Given the description of an element on the screen output the (x, y) to click on. 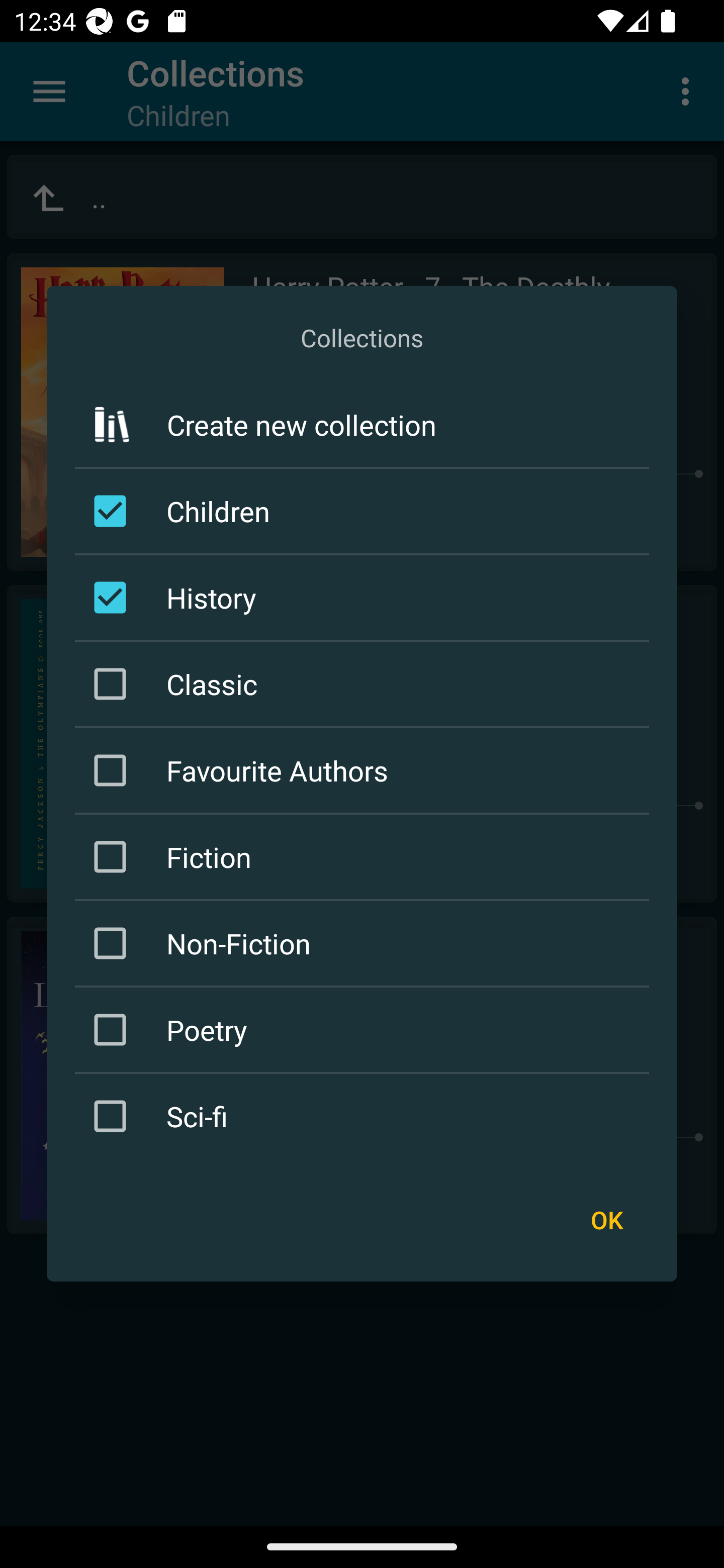
Create new collection (361, 424)
Children (365, 510)
History (365, 597)
Classic (365, 683)
Favourite Authors (365, 769)
Fiction (365, 856)
Non-Fiction (365, 943)
Poetry (365, 1029)
Sci-fi (365, 1116)
OK (606, 1219)
